Given the description of an element on the screen output the (x, y) to click on. 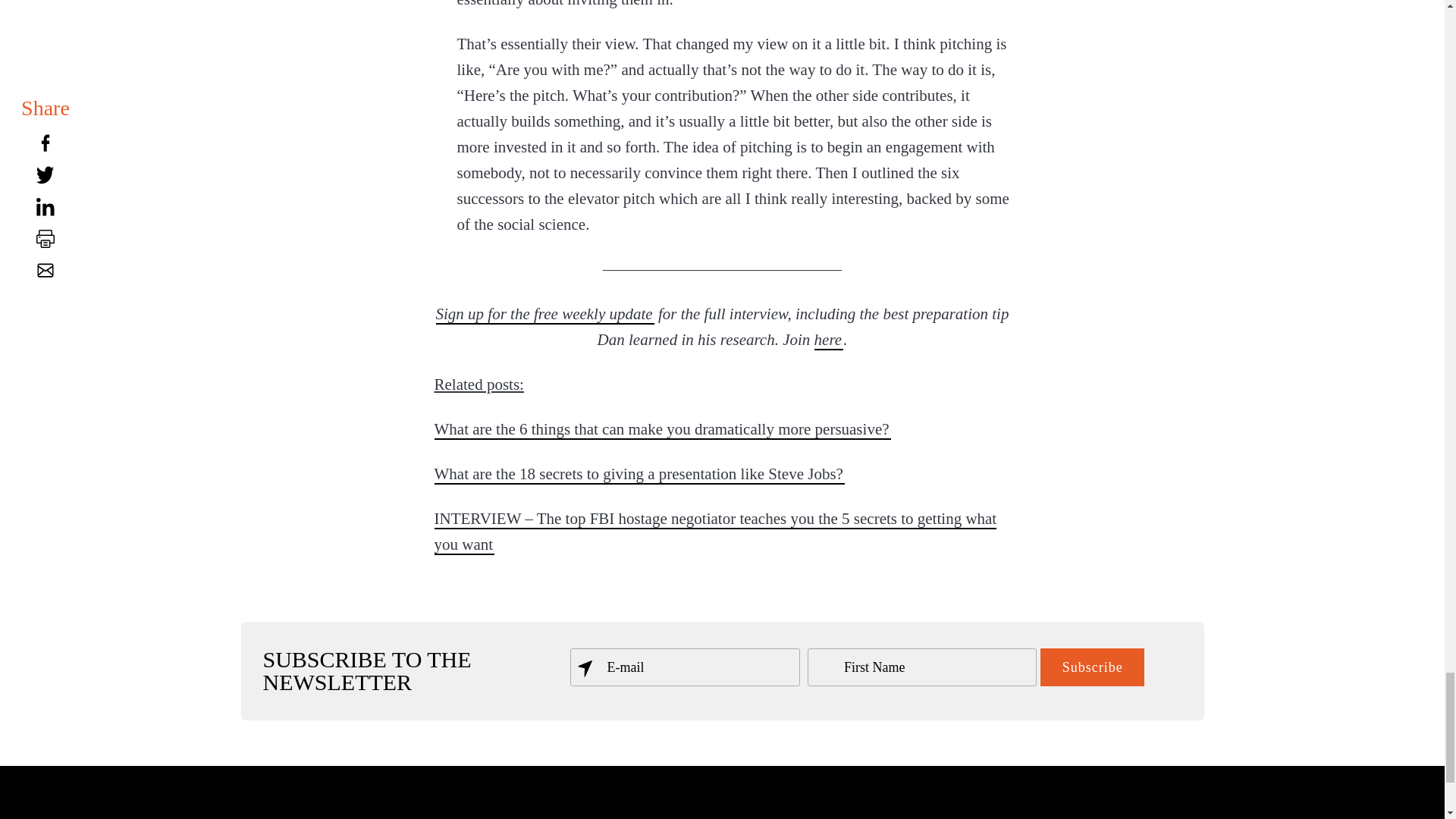
Subscribe (1092, 667)
Sign up for the free weekly update (544, 313)
here (828, 339)
Subscribe (1092, 667)
